Given the description of an element on the screen output the (x, y) to click on. 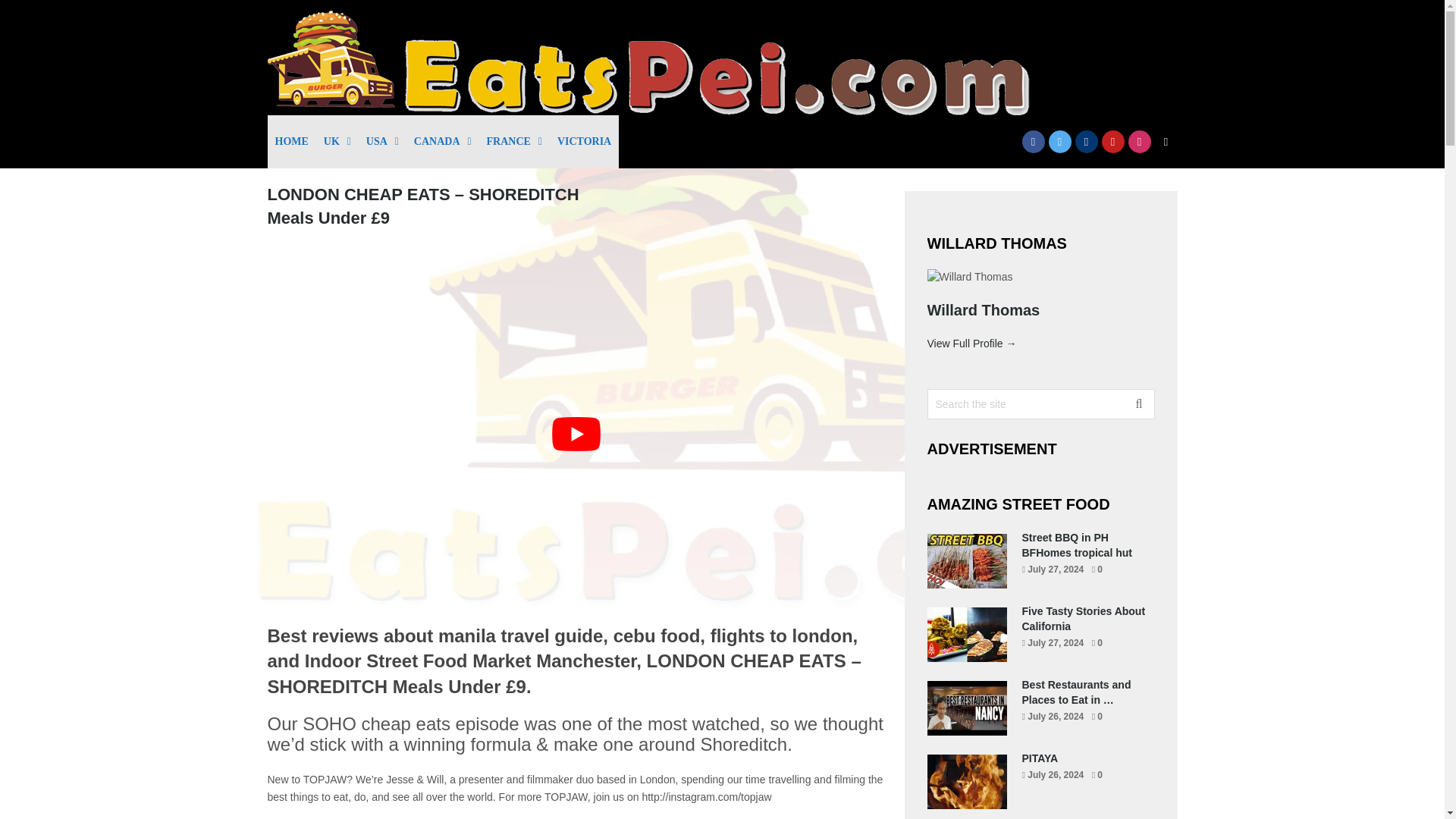
VICTORIA (584, 141)
UK (336, 141)
HOME (290, 141)
CANADA (442, 141)
USA (382, 141)
FRANCE (514, 141)
